Given the description of an element on the screen output the (x, y) to click on. 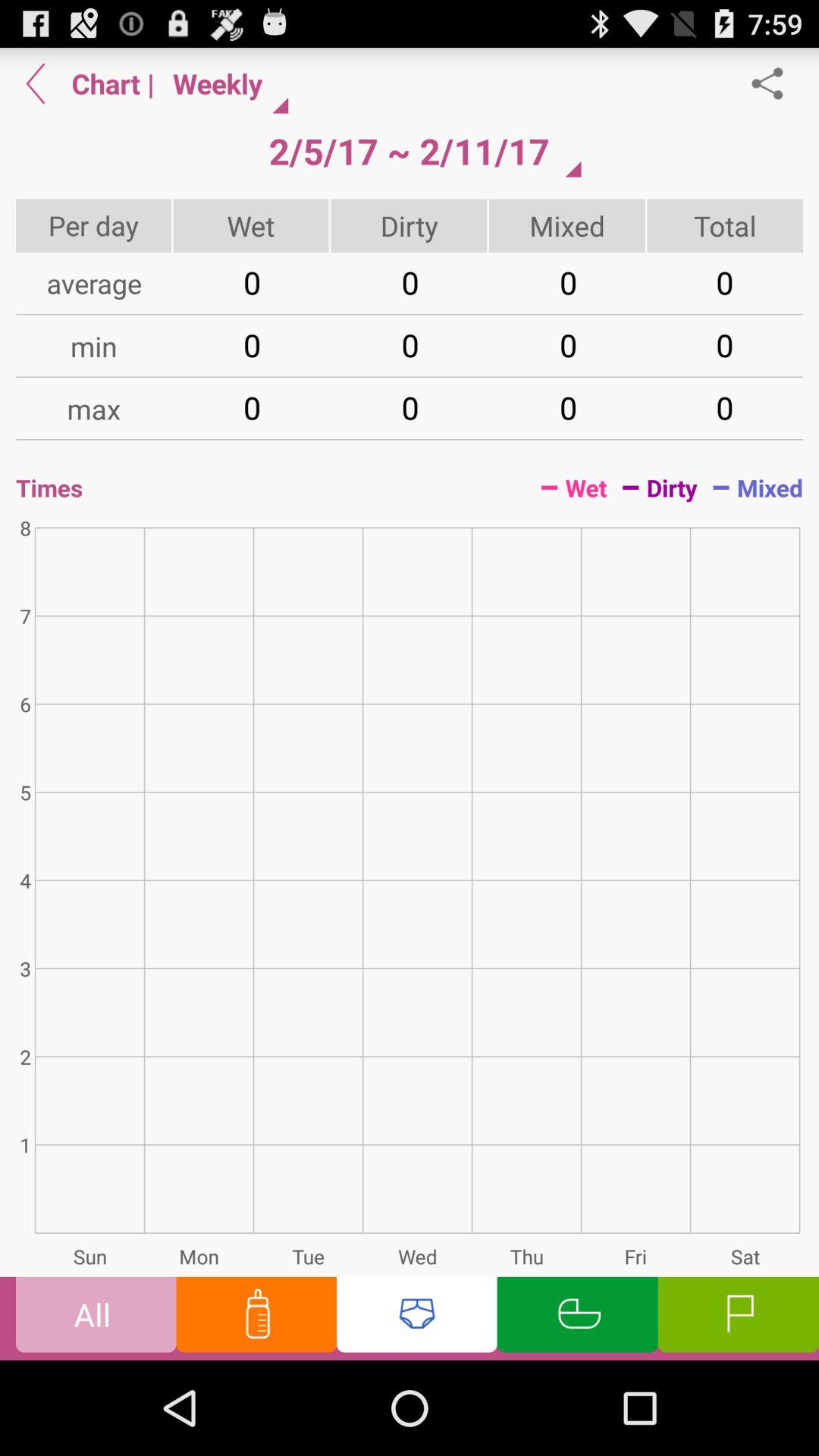
backward (35, 83)
